Given the description of an element on the screen output the (x, y) to click on. 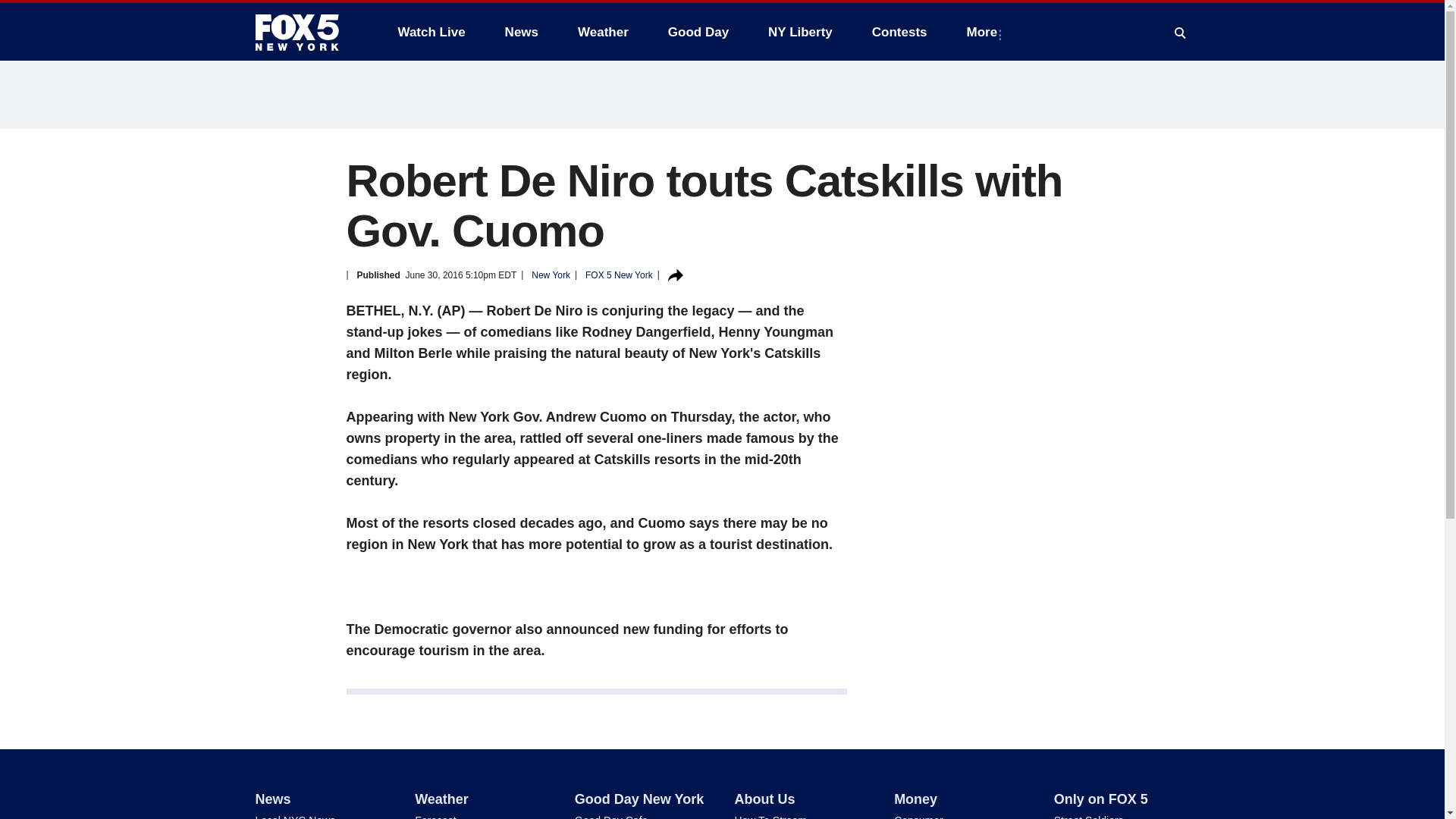
Good Day (698, 32)
Weather (603, 32)
NY Liberty (799, 32)
Watch Live (431, 32)
News (521, 32)
More (985, 32)
Contests (899, 32)
